Given the description of an element on the screen output the (x, y) to click on. 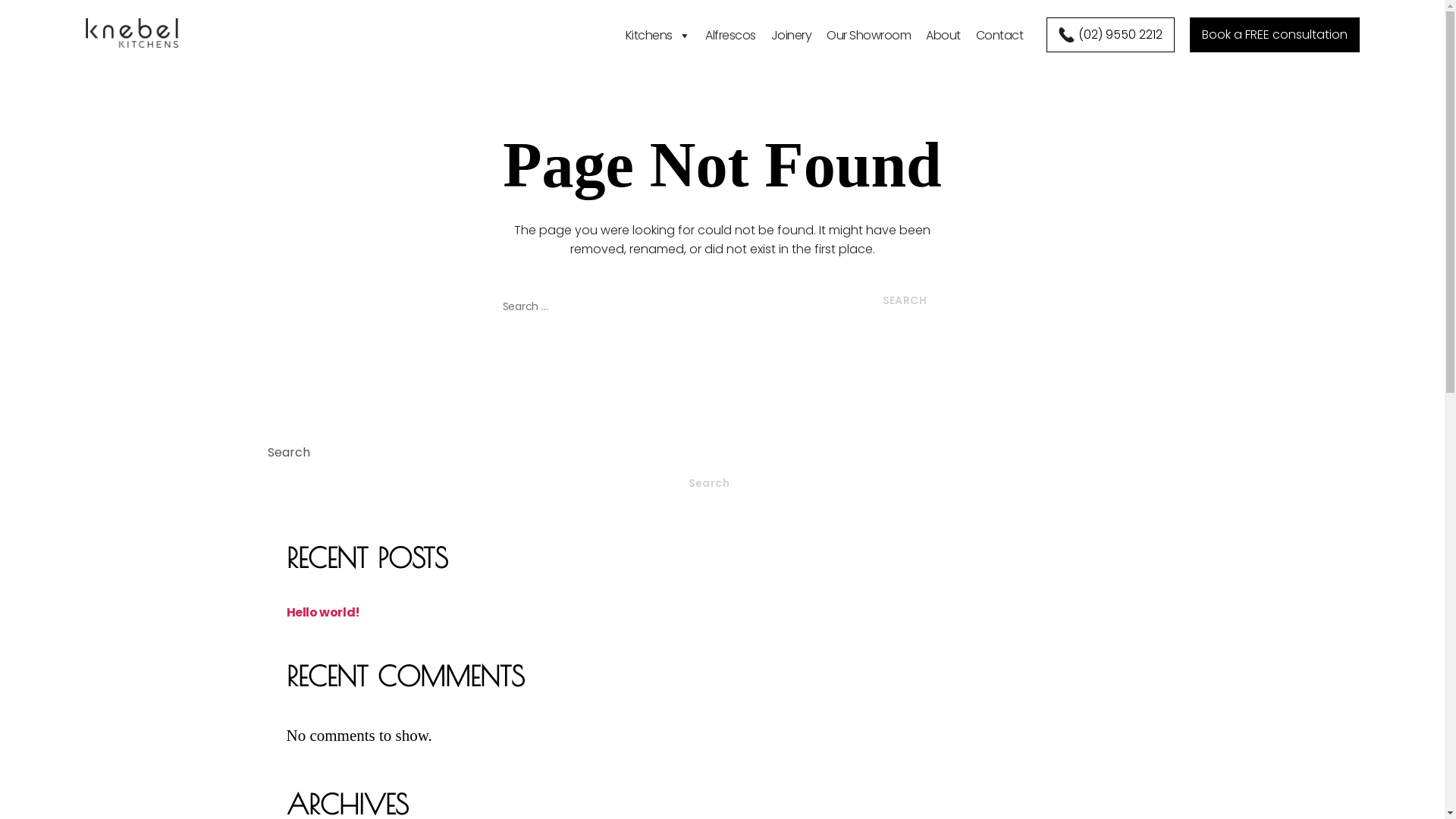
Contact Element type: text (999, 30)
Search Element type: text (903, 300)
Search Element type: text (708, 483)
Joinery Element type: text (791, 30)
(02) 9550 2212 Element type: text (1110, 34)
Our Showroom Element type: text (868, 30)
Book a FREE consultation Element type: text (1273, 34)
About Element type: text (943, 30)
Hello world! Element type: text (323, 612)
Alfrescos Element type: text (730, 30)
Kitchens Element type: text (658, 30)
